Given the description of an element on the screen output the (x, y) to click on. 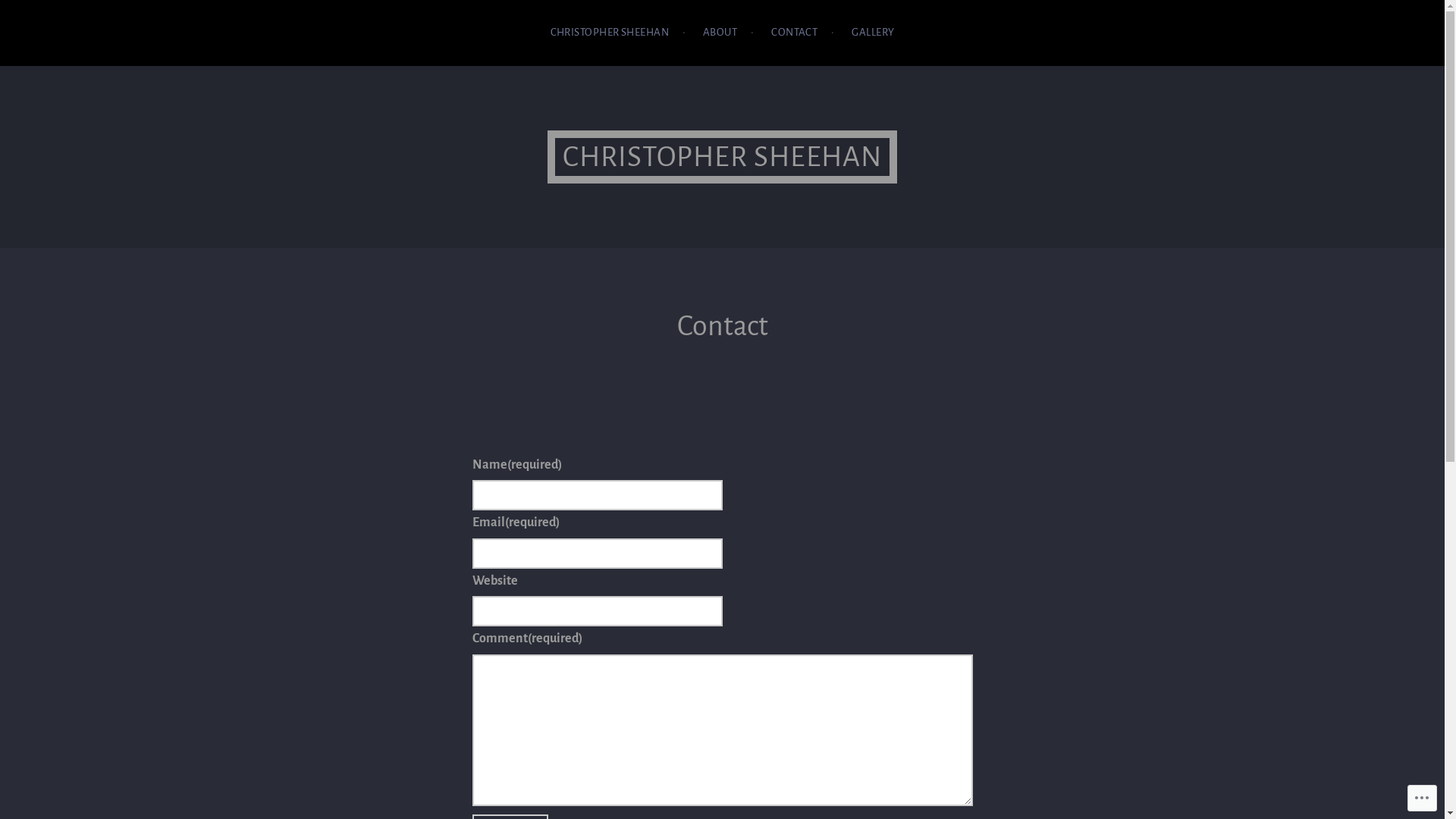
Please enter a valid URL - https://www.example.com Element type: hover (596, 611)
CHRISTOPHER SHEEHAN Element type: text (722, 156)
ABOUT Element type: text (727, 32)
GALLERY Element type: text (872, 32)
Search Element type: text (38, 15)
CHRISTOPHER SHEEHAN Element type: text (617, 32)
CONTACT Element type: text (802, 32)
